Given the description of an element on the screen output the (x, y) to click on. 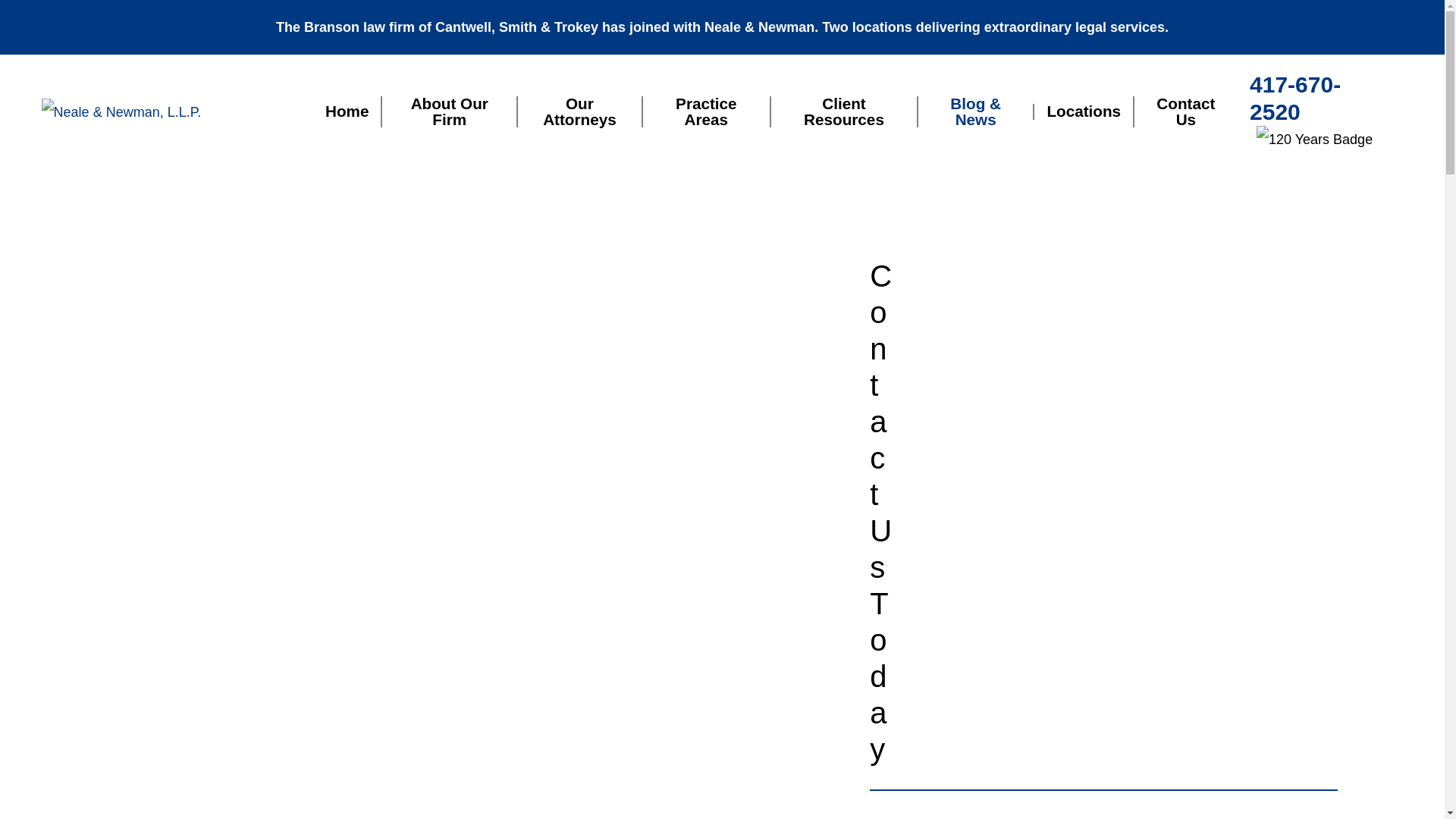
Practice Areas (706, 111)
Home (352, 111)
Open the accessibility options menu (1412, 786)
About Our Firm (448, 111)
Our Attorneys (579, 111)
